Given the description of an element on the screen output the (x, y) to click on. 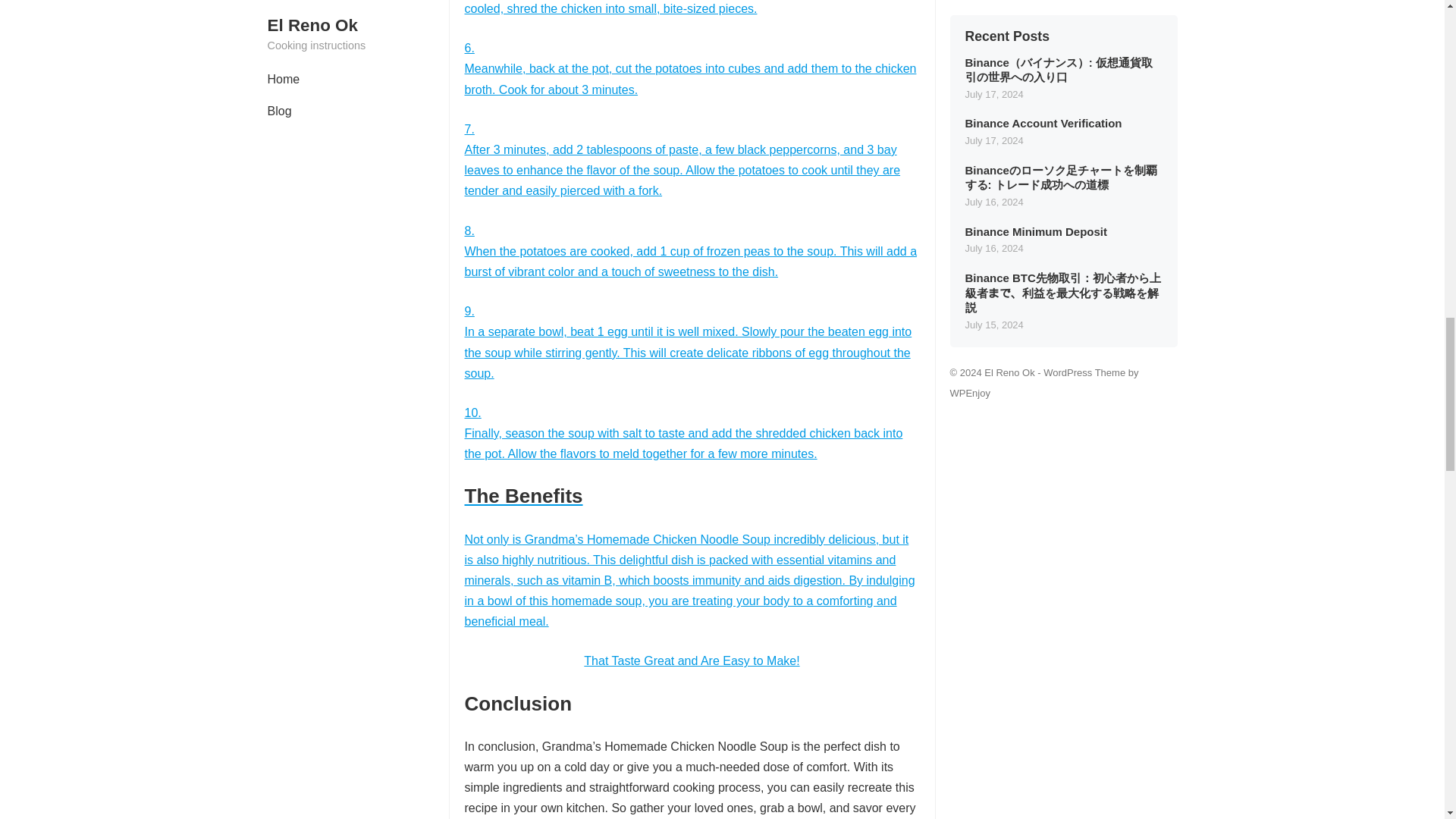
That Taste Great and Are Easy to Make! (691, 660)
